Given the description of an element on the screen output the (x, y) to click on. 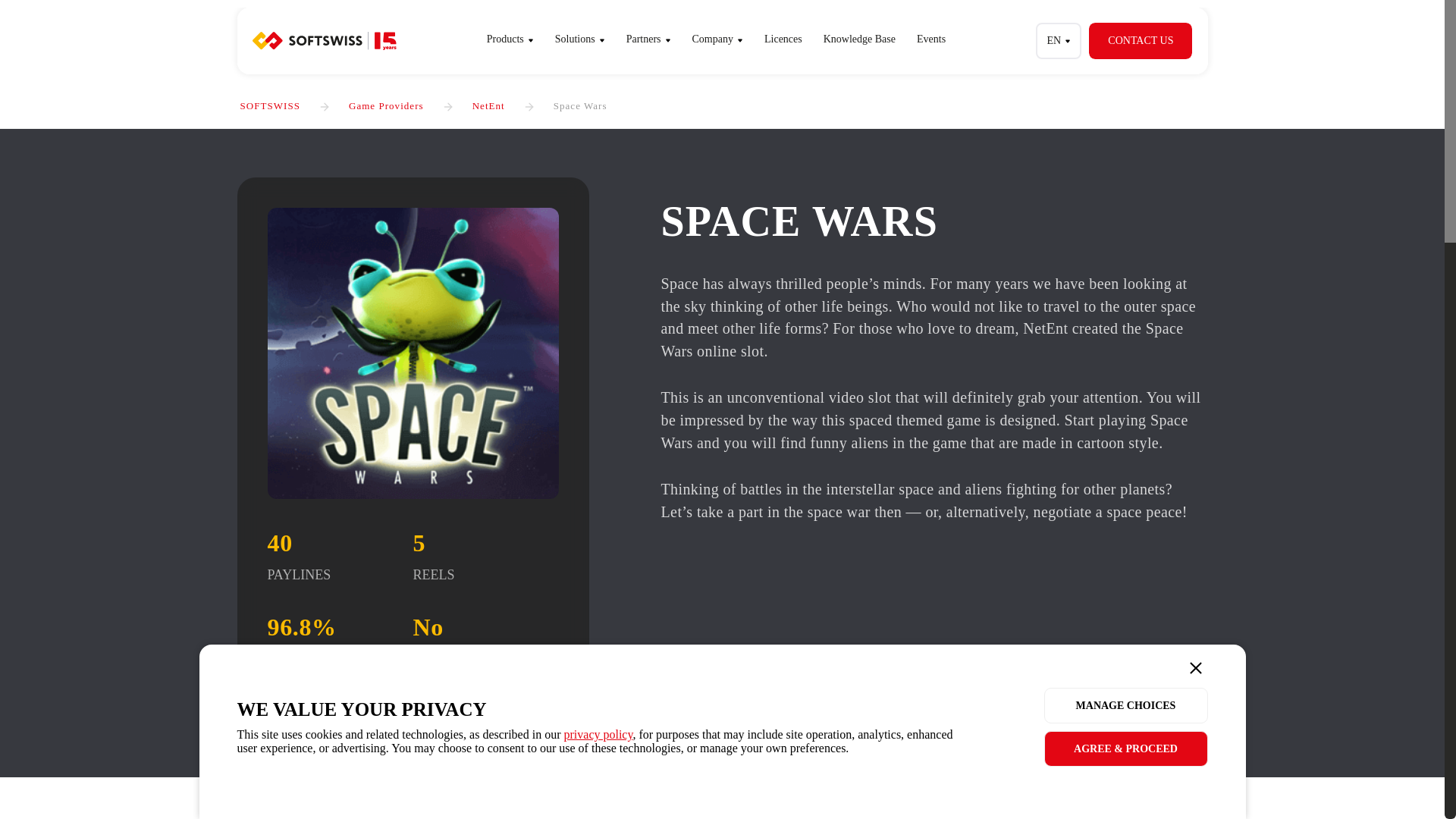
NetEnt (488, 105)
SOFTSWISS (269, 105)
Events (930, 39)
EN (1058, 40)
Knowledge Base (858, 39)
Game Providers (386, 105)
Licences (783, 39)
CONTACT US (1140, 40)
SOFTSWISS.com (323, 40)
